Given the description of an element on the screen output the (x, y) to click on. 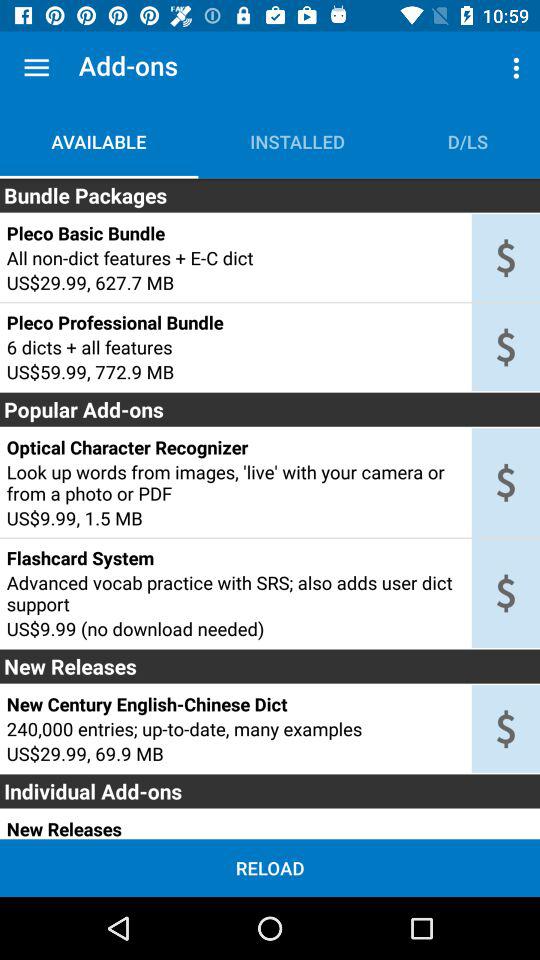
press the icon below popular add-ons item (235, 447)
